Given the description of an element on the screen output the (x, y) to click on. 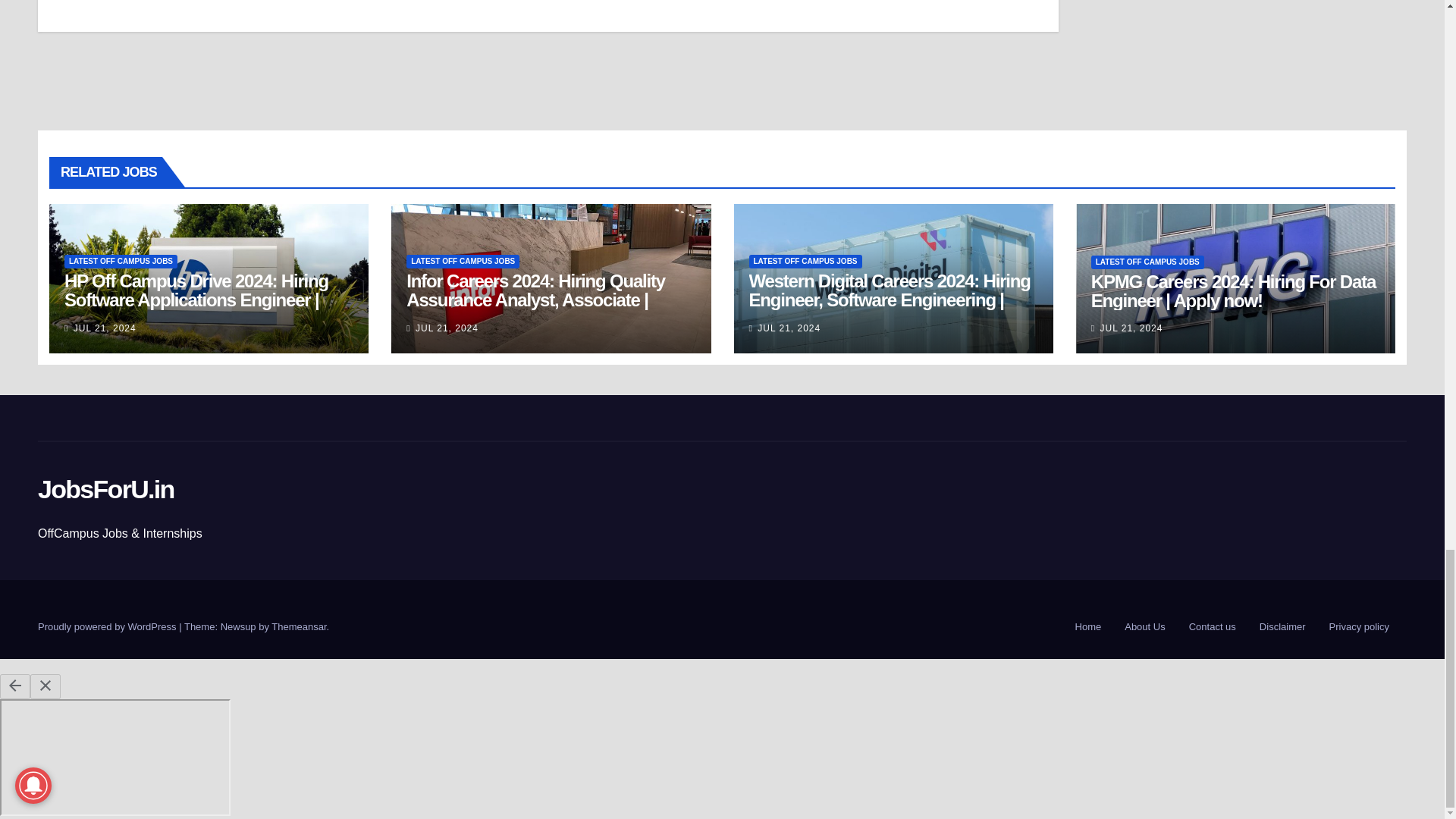
JUL 21, 2024 (446, 327)
LATEST OFF CAMPUS JOBS (120, 261)
LATEST OFF CAMPUS JOBS (805, 261)
JUL 21, 2024 (105, 327)
LATEST OFF CAMPUS JOBS (462, 261)
